Given the description of an element on the screen output the (x, y) to click on. 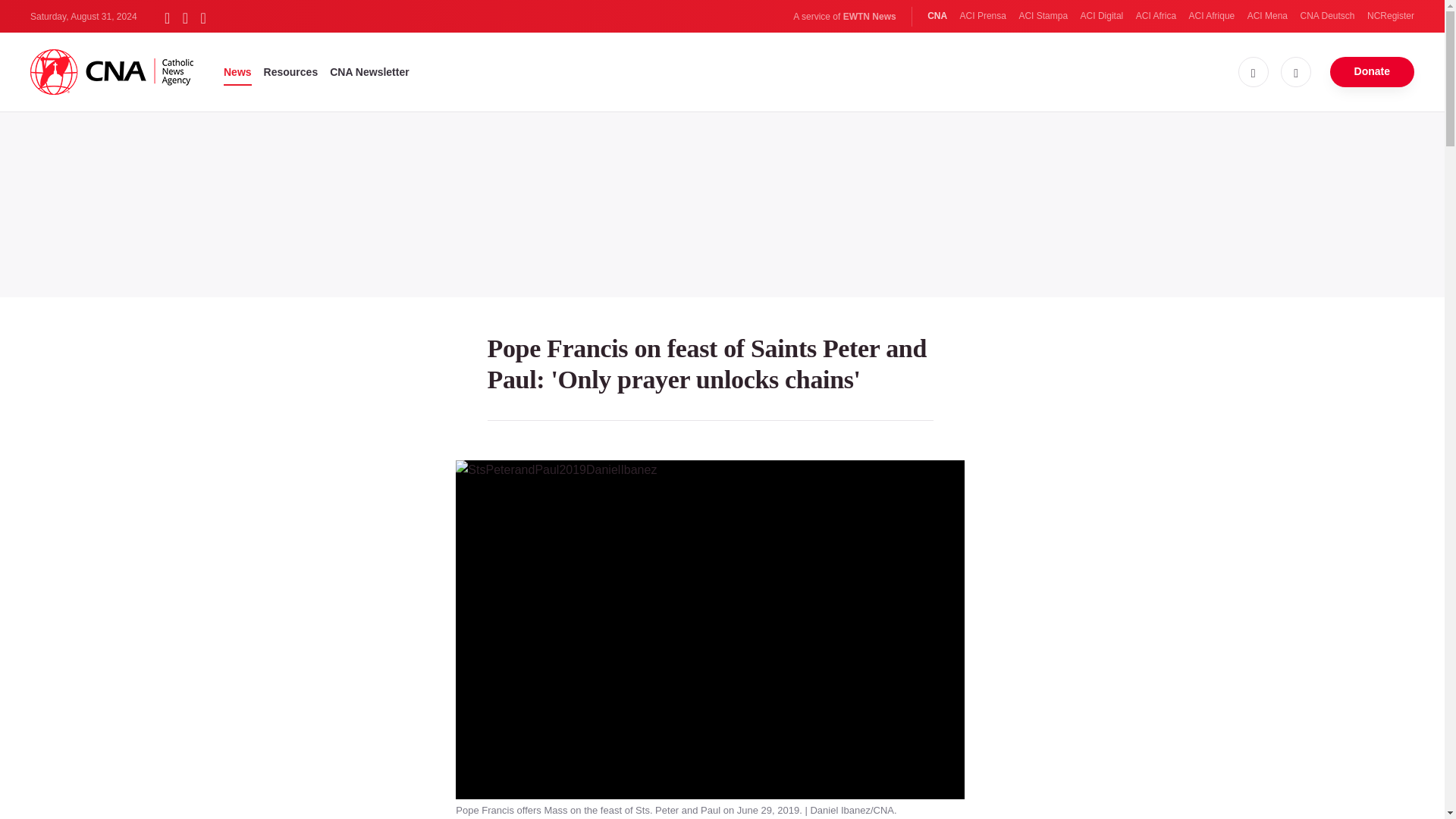
ACI Africa (1155, 16)
ACI Mena (1267, 16)
EWTN News (869, 16)
News (237, 71)
ACI Prensa (982, 16)
EWTN News (869, 16)
ACI Stampa (1042, 16)
NCRegister (1390, 16)
Resources (290, 71)
ACI Digital (1102, 16)
